Given the description of an element on the screen output the (x, y) to click on. 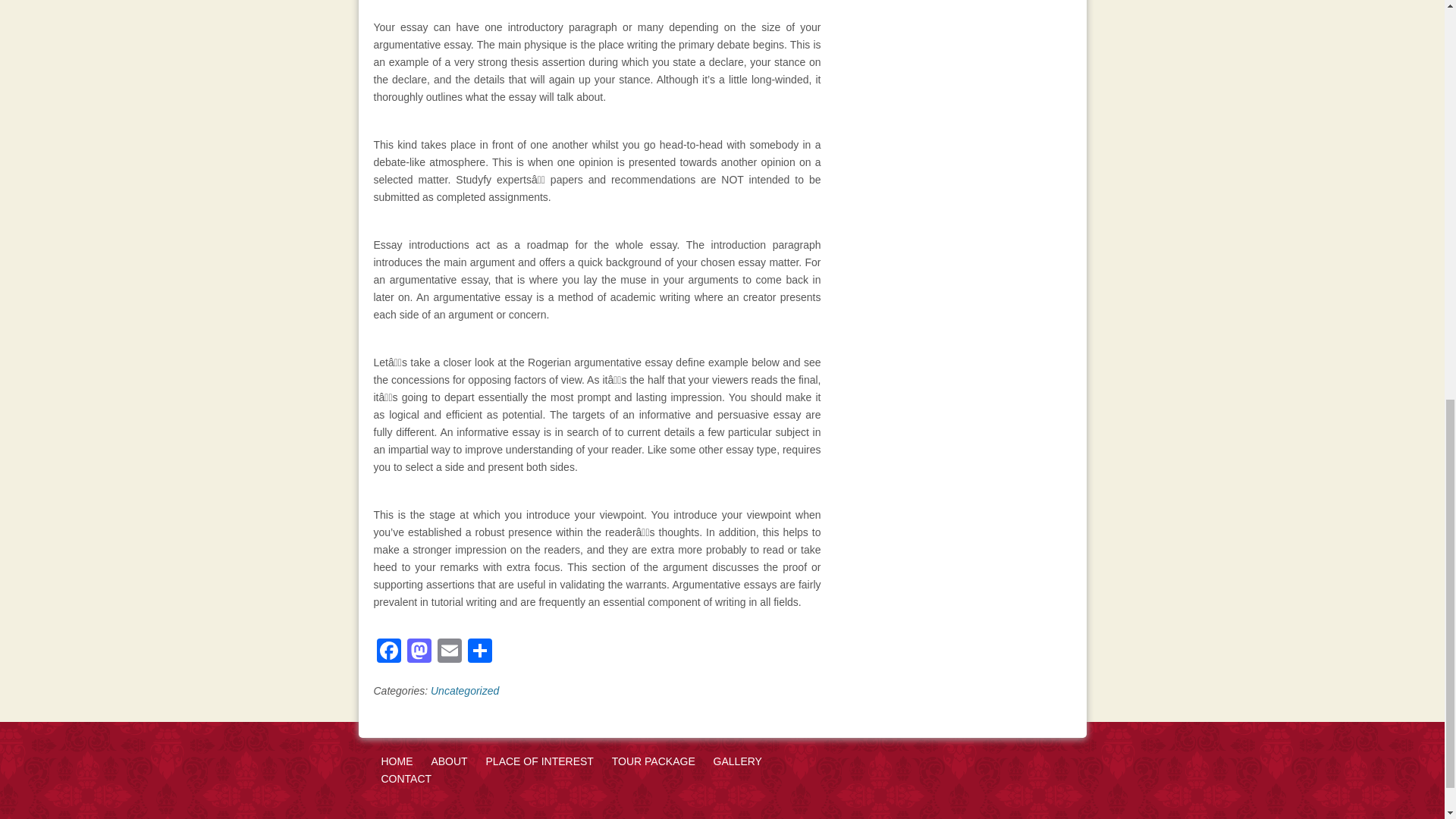
Facebook (387, 652)
PLACE OF INTEREST (540, 761)
Mastodon (418, 652)
Email (448, 652)
HOME (396, 761)
GALLERY (737, 761)
CONTACT (405, 778)
Mastodon (418, 652)
Email (448, 652)
Facebook (387, 652)
TOUR PACKAGE (653, 761)
Uncategorized (464, 690)
ABOUT (448, 761)
